Given the description of an element on the screen output the (x, y) to click on. 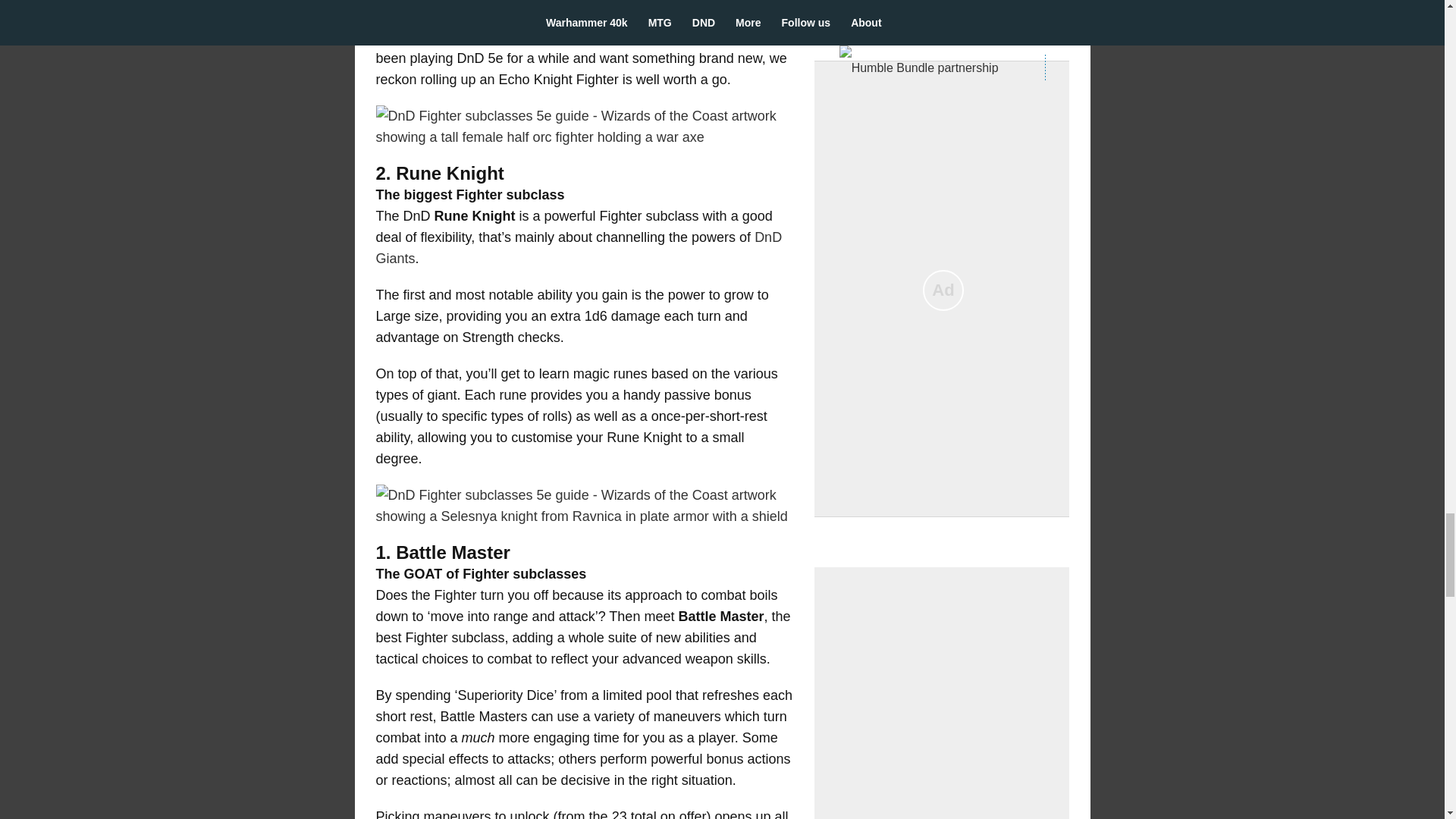
dnd-fighter-subclasses-5e-selesnya-knight (584, 505)
dnd-fighter-subclasses-5e-half-orc-with-axe (584, 126)
